Given the description of an element on the screen output the (x, y) to click on. 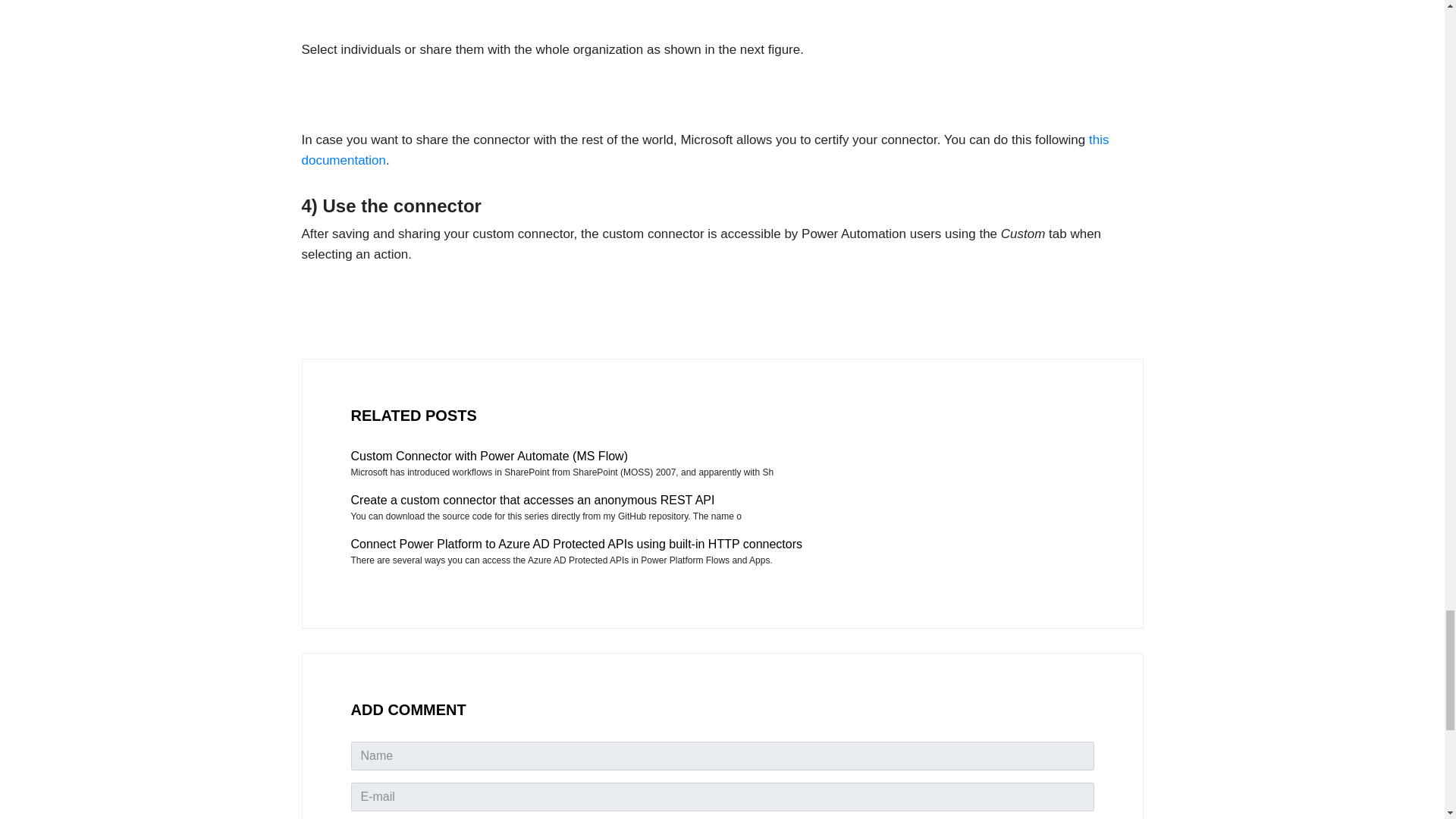
this documentation (705, 150)
